Given the description of an element on the screen output the (x, y) to click on. 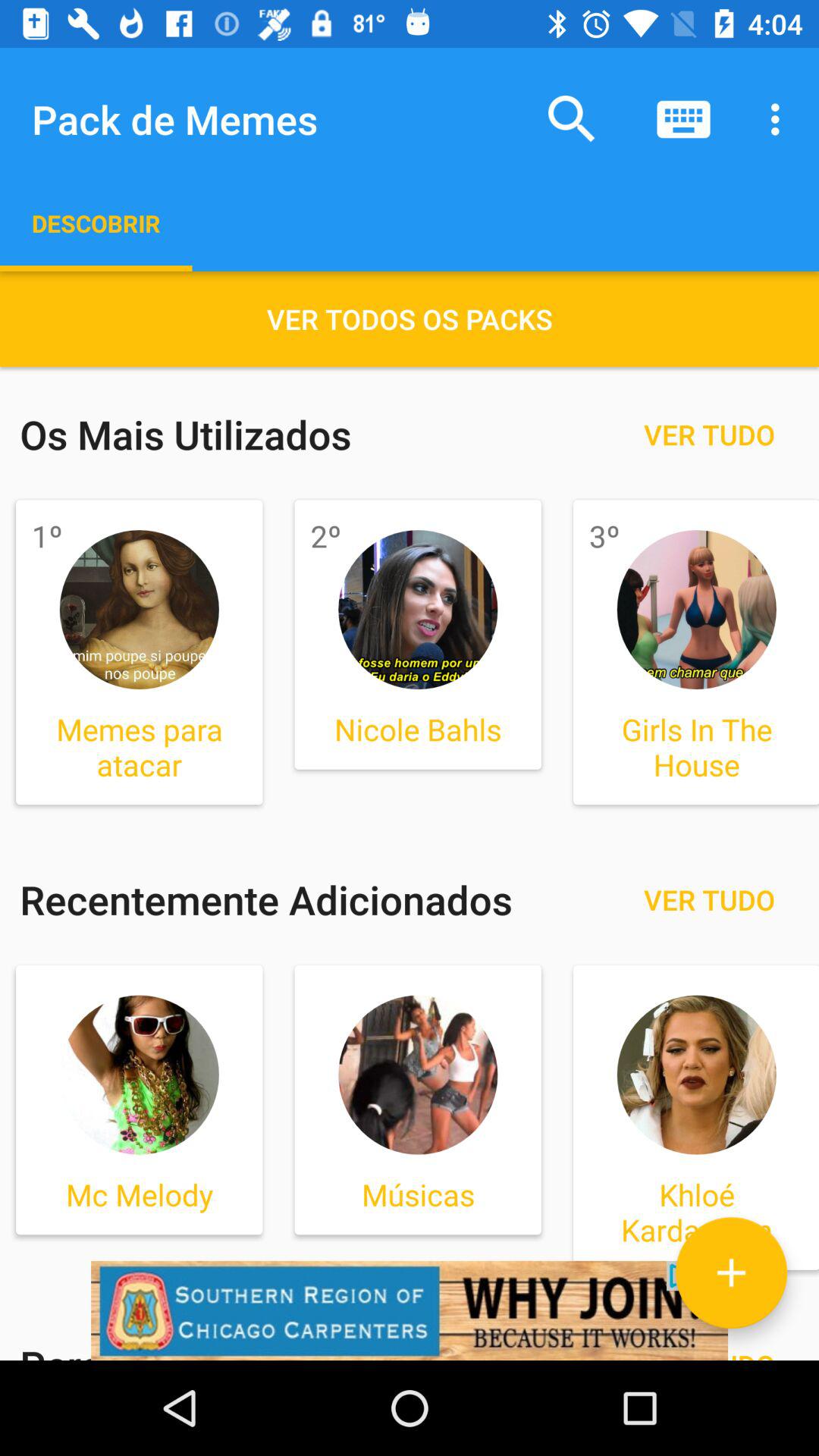
add photo (731, 1272)
